Given the description of an element on the screen output the (x, y) to click on. 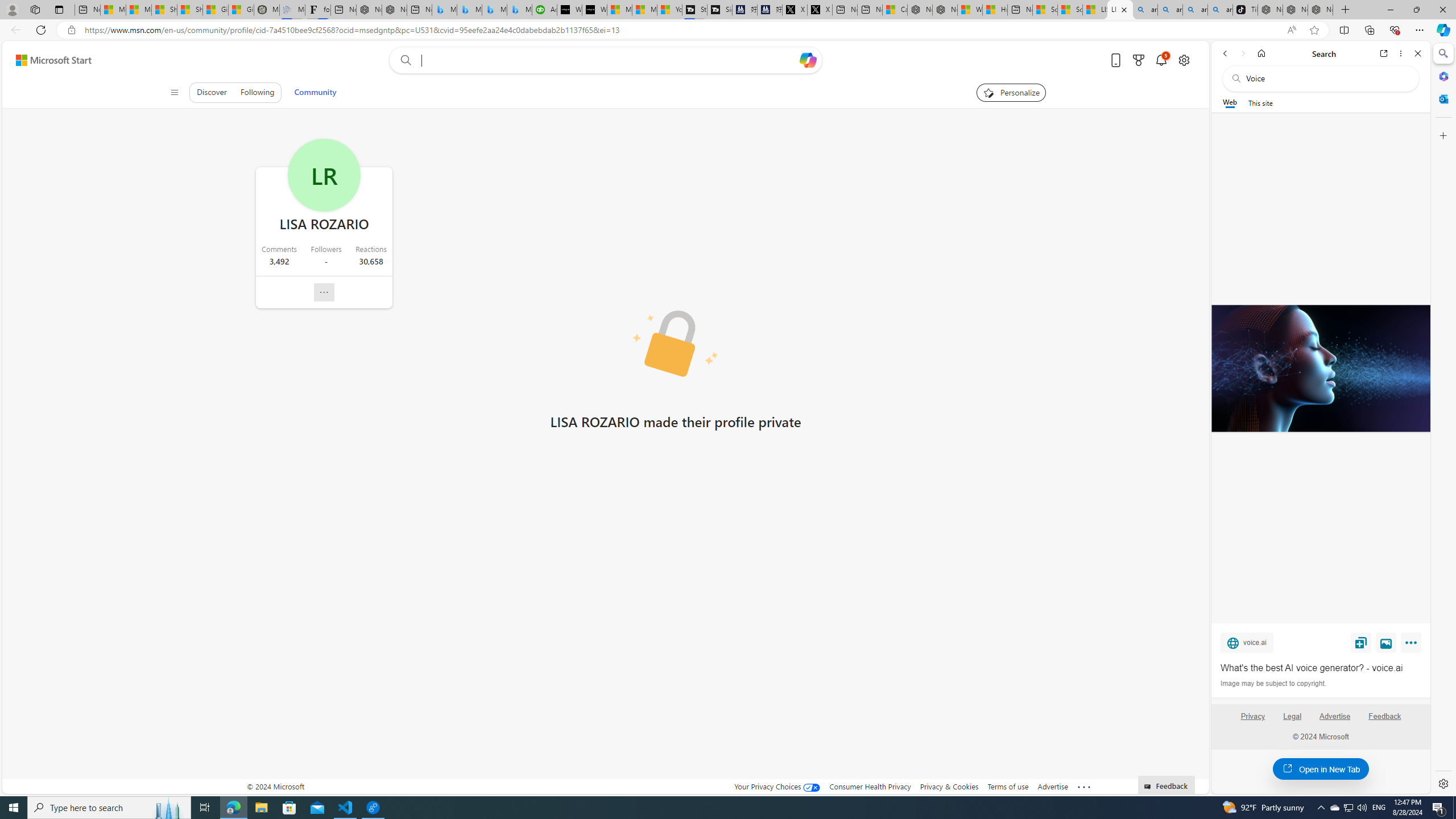
Your Privacy Choices (777, 785)
Report profile (324, 292)
Open settings (1183, 60)
Enter your search term (608, 59)
Nordace - Best Sellers (1270, 9)
Feedback (1384, 720)
Class: oneFooter_seeMore-DS-EntryPoint1-1 (1083, 786)
Settings (1442, 783)
Streaming Coverage | T3 (694, 9)
